Given the description of an element on the screen output the (x, y) to click on. 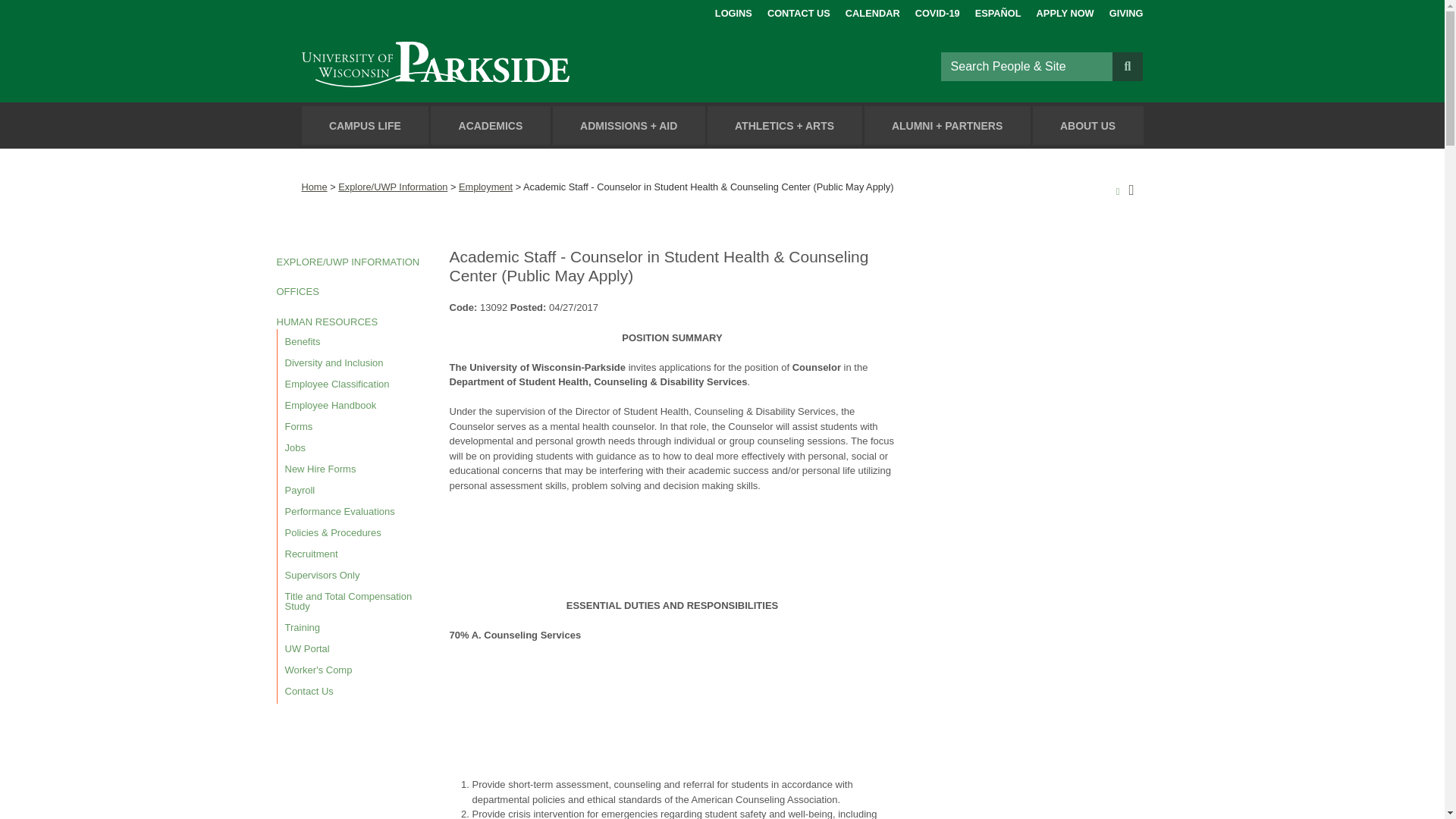
COVID-19 (937, 11)
LOGINS (733, 11)
CAMPUS LIFE (365, 125)
GIVING (1125, 11)
University of Wisconsin-Parkside (470, 66)
CONTACT US (798, 11)
Skip to main content (18, 14)
CALENDAR (872, 11)
Submit (1127, 65)
APPLY NOW (1065, 11)
